Given the description of an element on the screen output the (x, y) to click on. 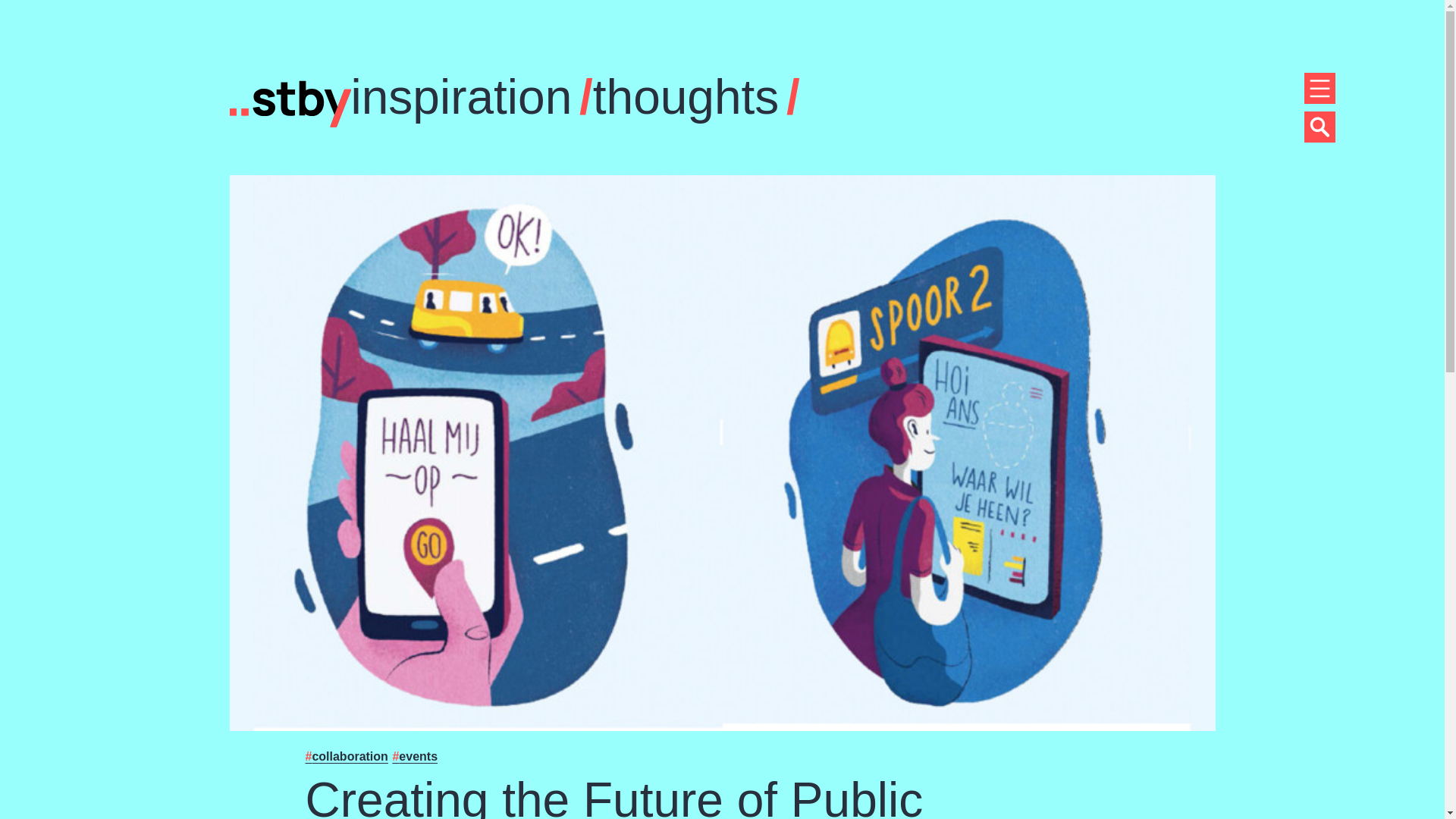
inspiration (461, 96)
Menu (1319, 88)
Menu (1319, 126)
events (414, 756)
thoughts (685, 96)
collaboration (345, 756)
